Given the description of an element on the screen output the (x, y) to click on. 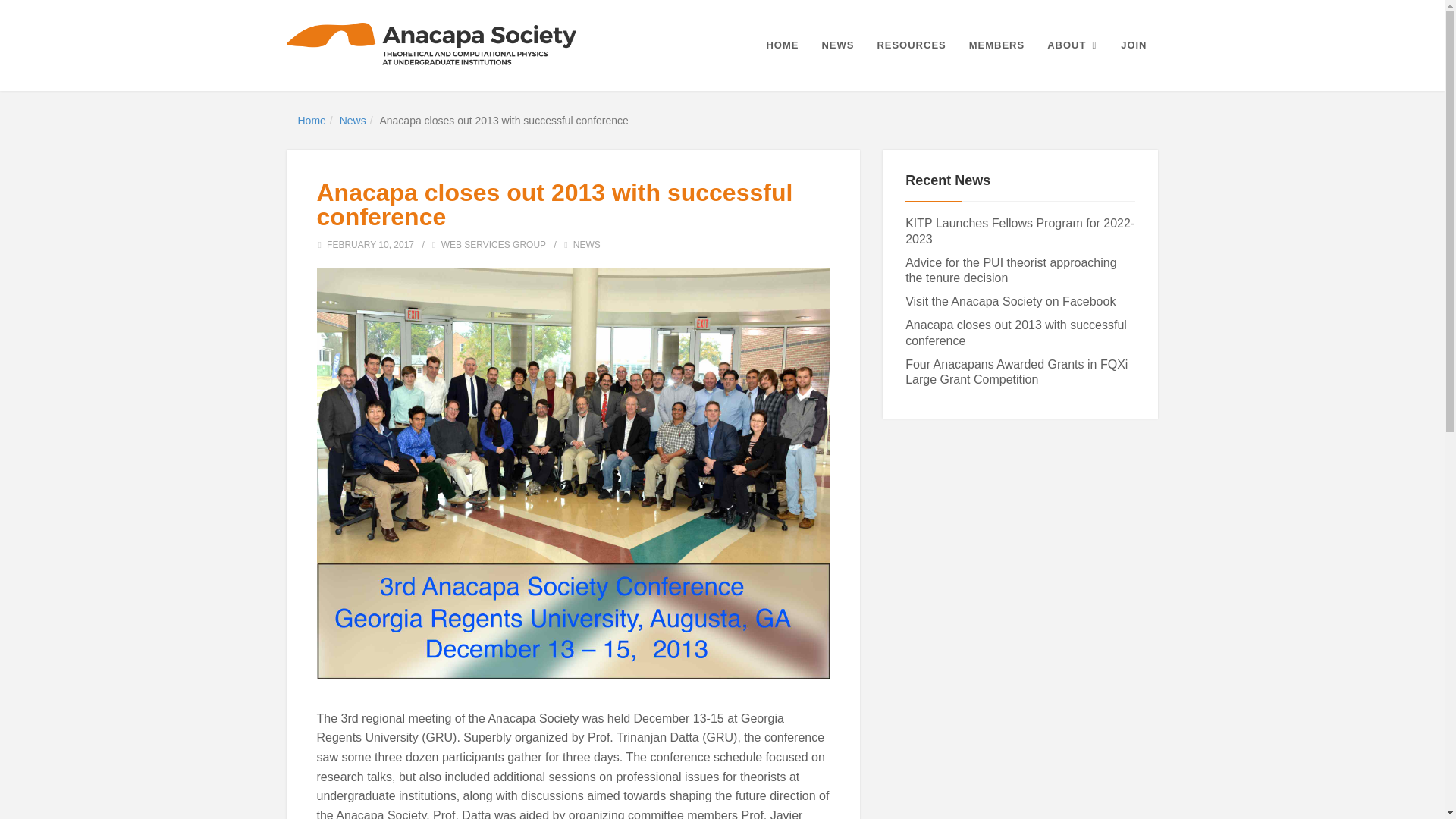
Visit the Anacapa Society on Facebook (1010, 300)
Home (310, 120)
Anacapa closes out 2013 with successful conference (1015, 332)
WEB SERVICES GROUP (493, 244)
KITP Launches Fellows Program for 2022-2023 (1019, 231)
Advice for the PUI theorist approaching the tenure decision (1010, 270)
View all posts by Web Services Group (493, 244)
NEWS (586, 244)
News (352, 120)
Home (310, 120)
News (352, 120)
